Given the description of an element on the screen output the (x, y) to click on. 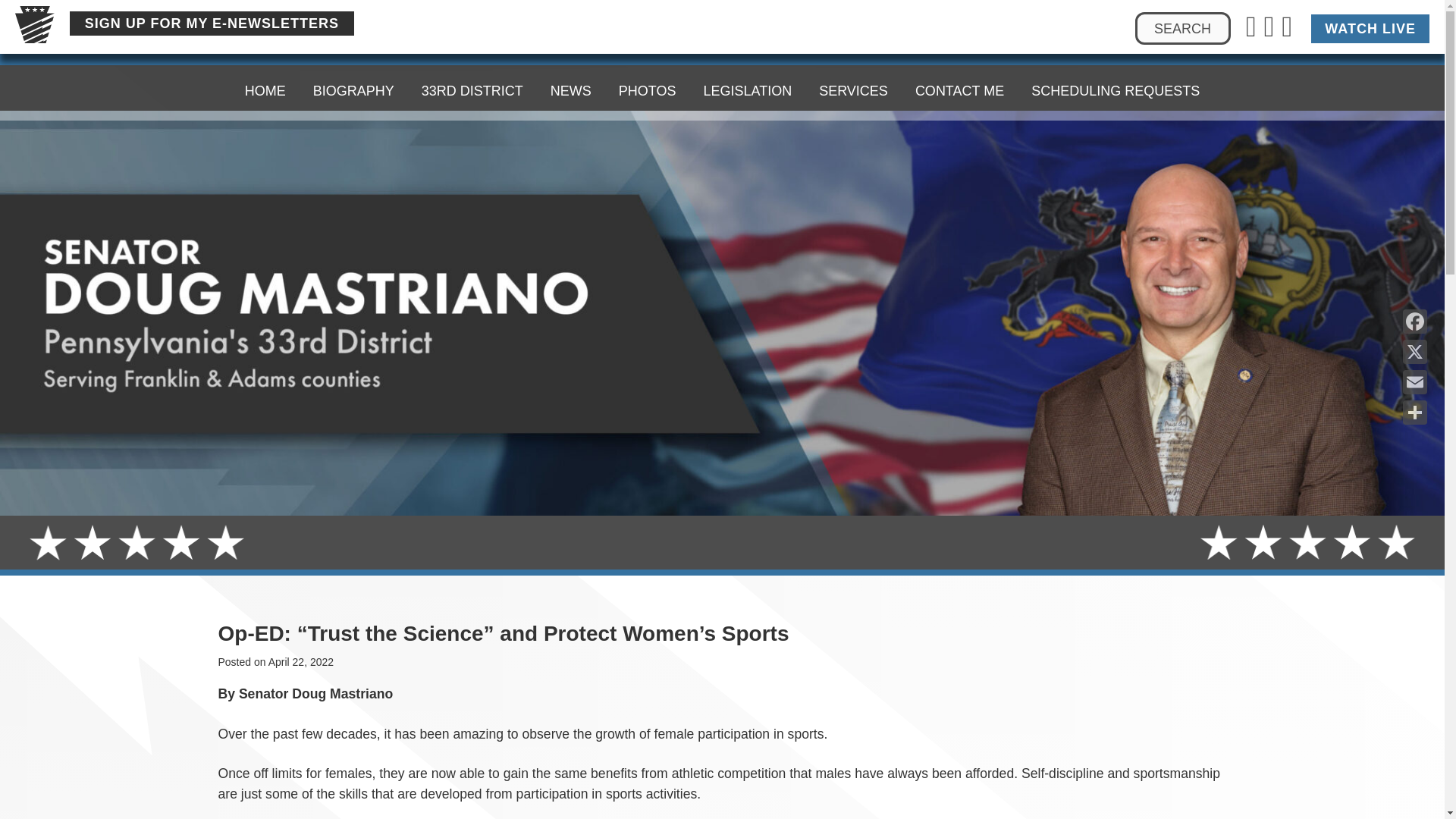
PHOTOS (647, 68)
SERVICES (853, 87)
NEWS (571, 51)
33RD DISTRICT (472, 33)
33rd District (472, 87)
CONTACT ME (959, 87)
LEGISLATION (746, 85)
Home (265, 87)
News (571, 87)
Biography (353, 87)
BIOGRAPHY (353, 31)
HOME (265, 27)
Search for: (1182, 28)
